Given the description of an element on the screen output the (x, y) to click on. 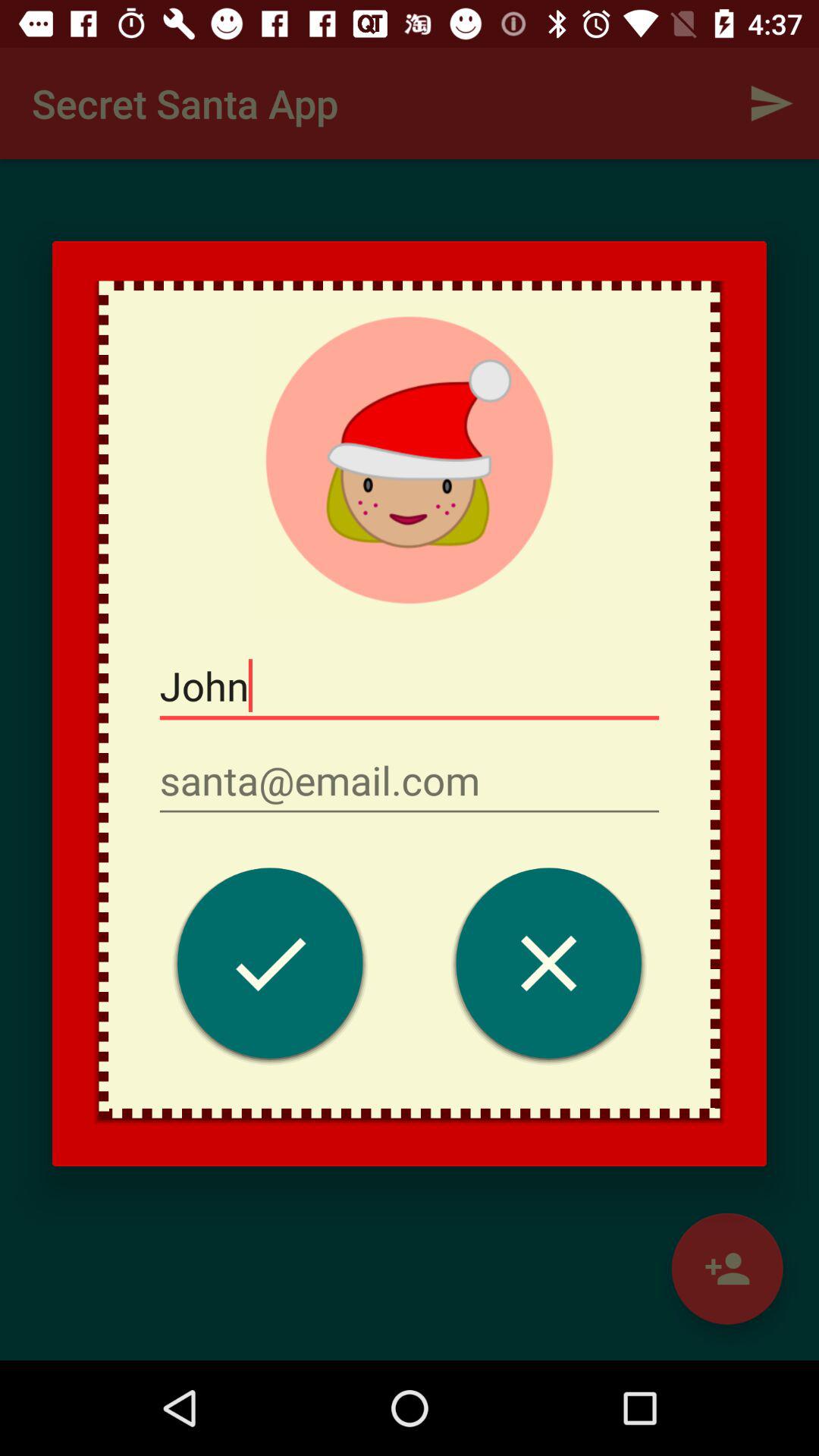
insert email adress (409, 780)
